Given the description of an element on the screen output the (x, y) to click on. 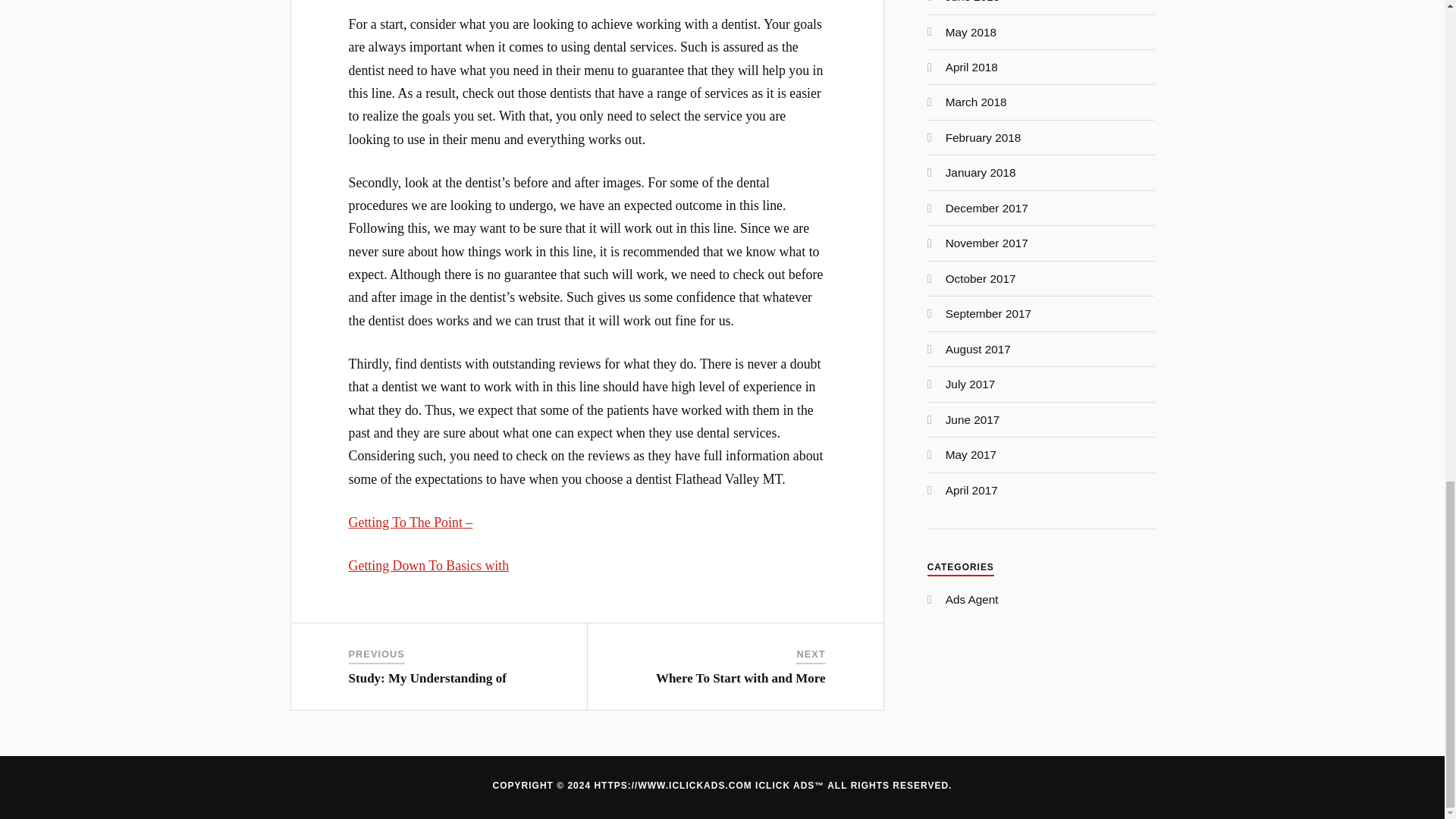
Where To Start with and More (740, 677)
January 2018 (980, 172)
October 2017 (980, 278)
November 2017 (985, 242)
June 2018 (972, 1)
Getting Down To Basics with (429, 565)
December 2017 (985, 207)
March 2018 (975, 101)
September 2017 (987, 313)
June 2017 (972, 419)
